Given the description of an element on the screen output the (x, y) to click on. 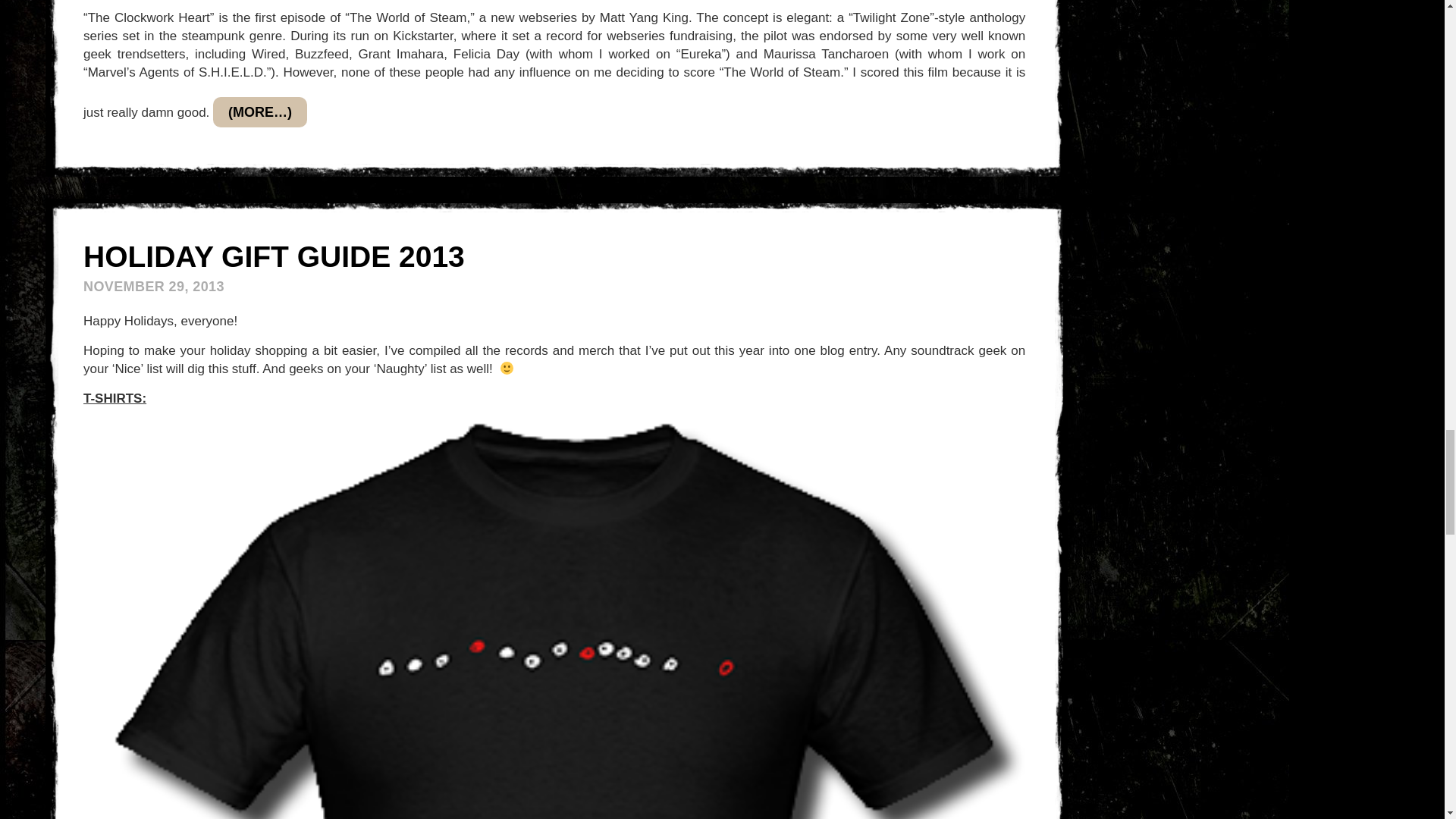
HOLIDAY GIFT GUIDE 2013 (273, 256)
